Given the description of an element on the screen output the (x, y) to click on. 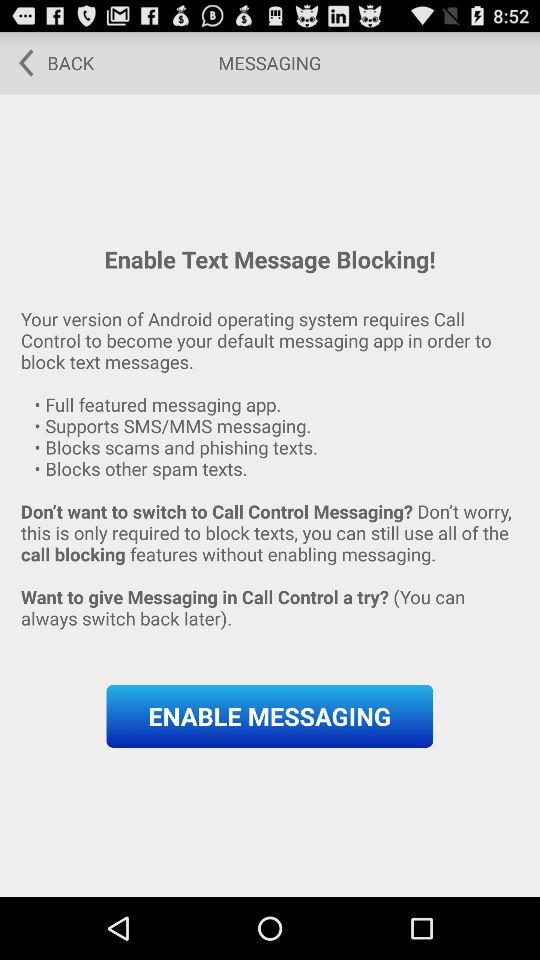
turn off the app above enable text message icon (49, 62)
